Given the description of an element on the screen output the (x, y) to click on. 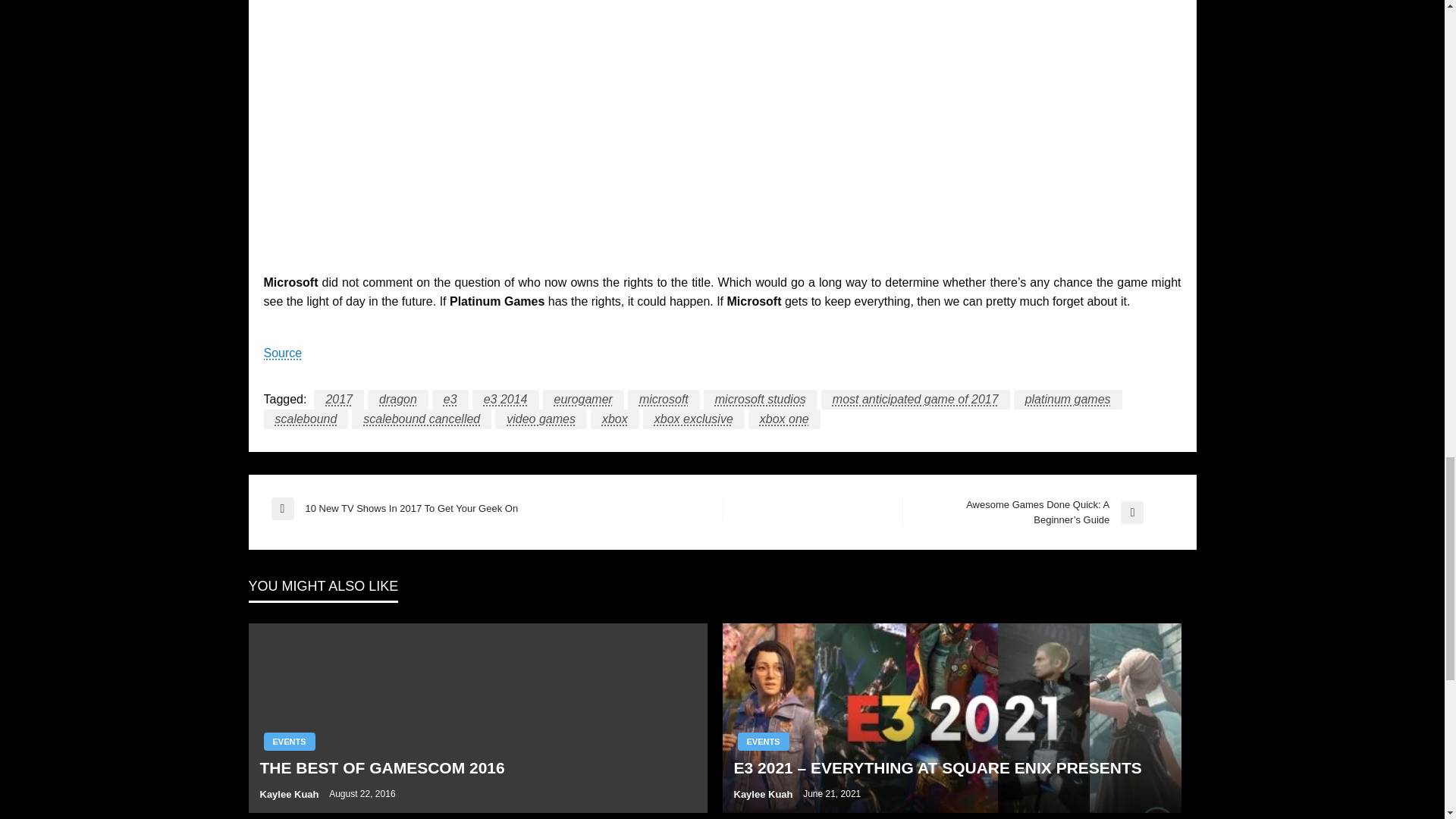
scalebound cancelled (422, 419)
video games (540, 419)
scalebound (306, 419)
dragon (398, 399)
eurogamer (583, 399)
2017 (339, 399)
platinum games (1067, 399)
most anticipated game of 2017 (915, 399)
e3 2014 (504, 399)
microsoft studios (759, 399)
microsoft (663, 399)
xbox (615, 419)
Source (282, 352)
e3 (450, 399)
